Given the description of an element on the screen output the (x, y) to click on. 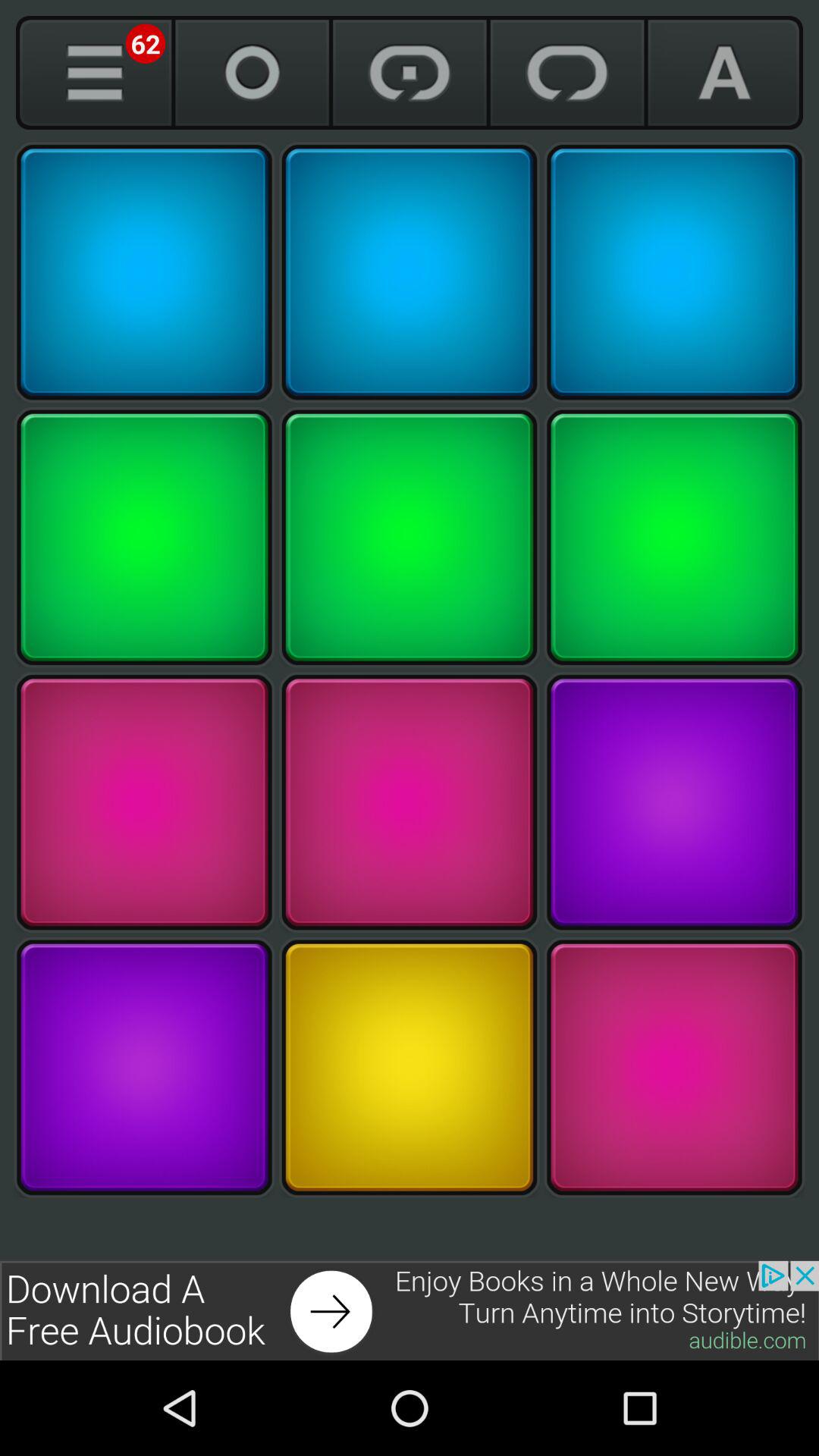
key number 6 (674, 537)
